Given the description of an element on the screen output the (x, y) to click on. 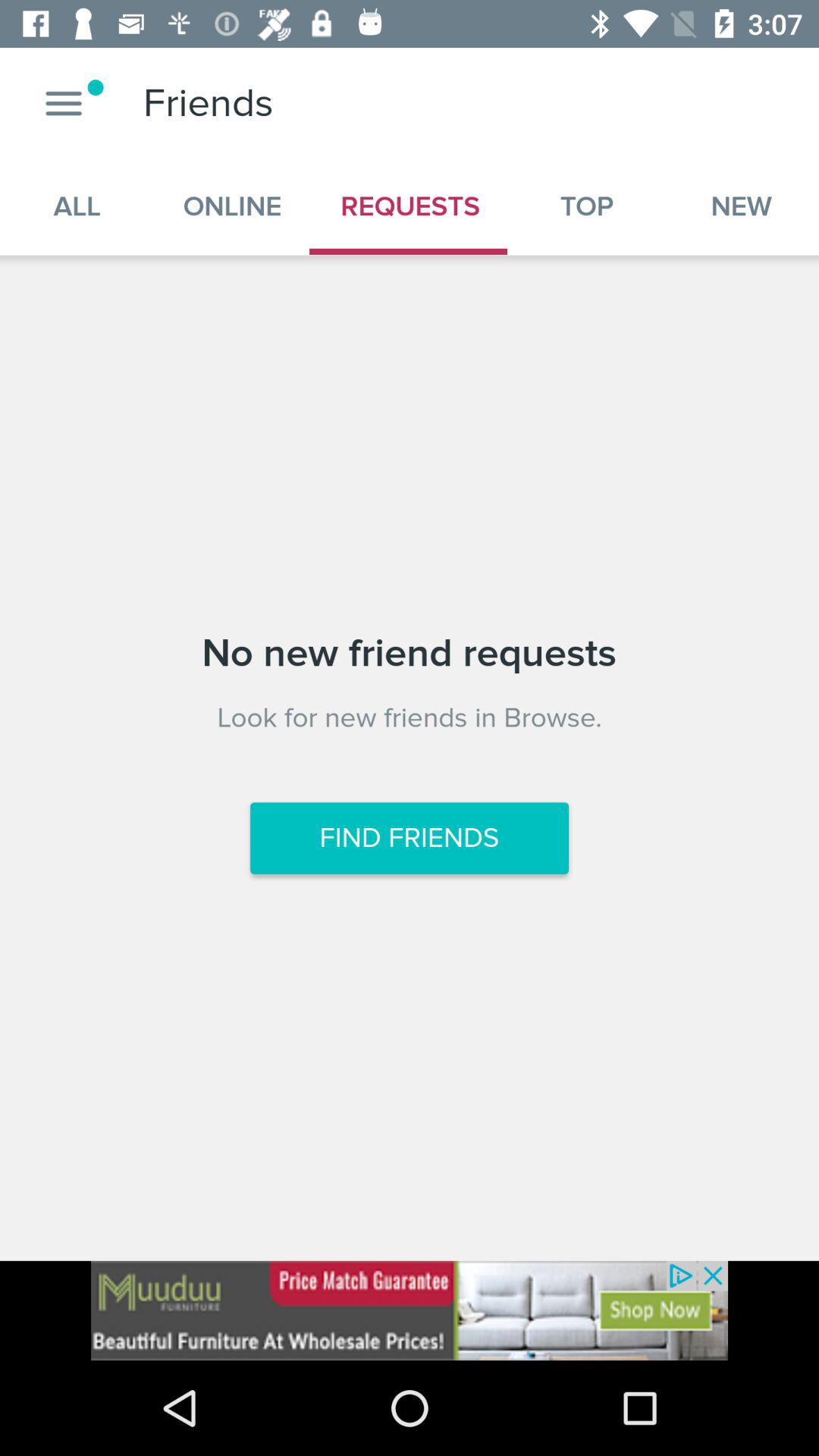
go to advertisiment advertisement (409, 1310)
